Given the description of an element on the screen output the (x, y) to click on. 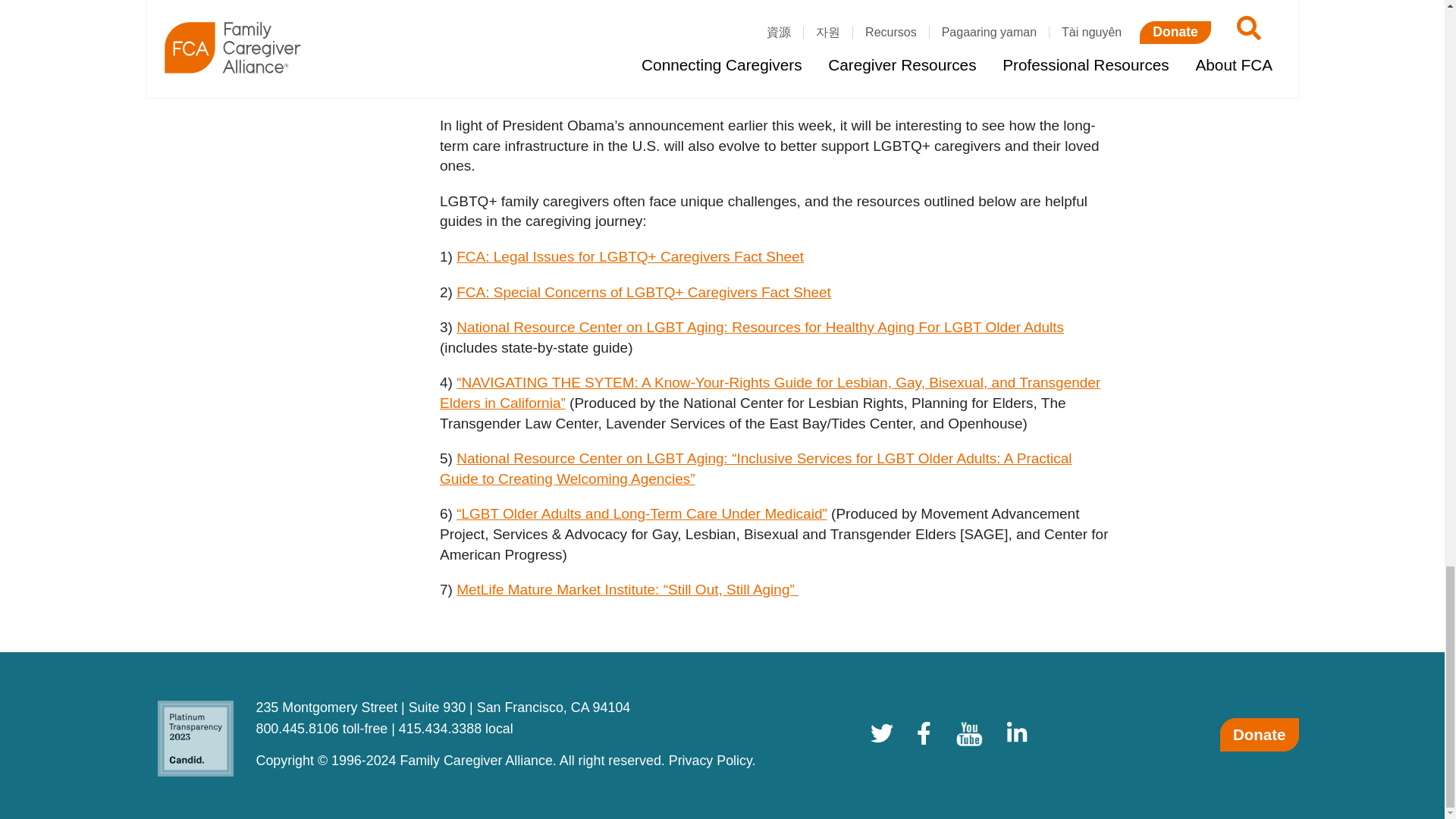
Legal Issues for LGBT Caregivers (630, 256)
Special Concerns of LGBT Caregivers (644, 292)
LGBT Older Adults and Long-Term Care Under Medicaid (642, 513)
Still Out, Still Aging (627, 589)
